Given the description of an element on the screen output the (x, y) to click on. 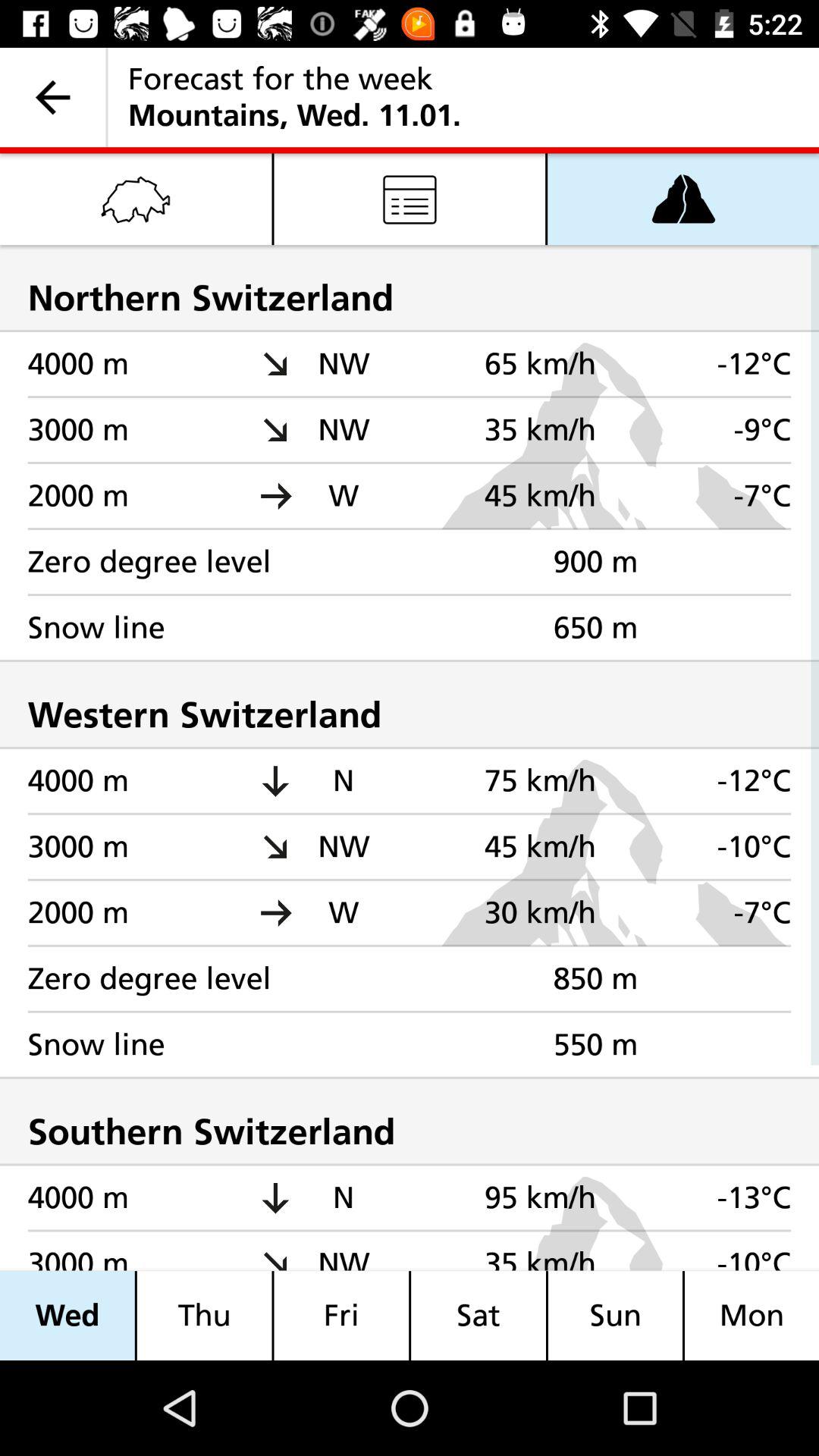
select item next to the fri item (478, 1315)
